Given the description of an element on the screen output the (x, y) to click on. 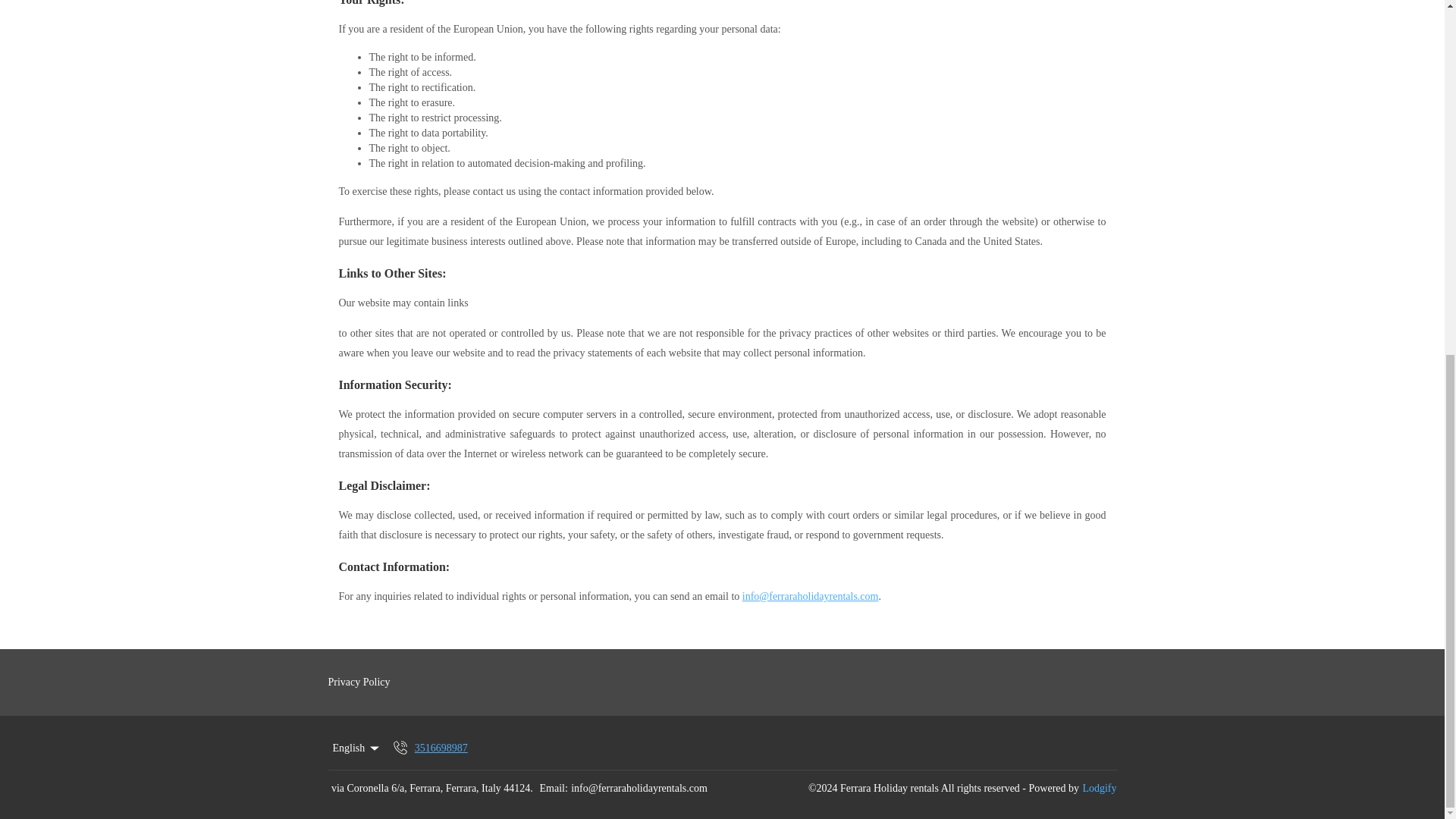
English (356, 748)
Privacy Policy (371, 681)
Lodgify (1098, 788)
3516698987 (429, 748)
